Given the description of an element on the screen output the (x, y) to click on. 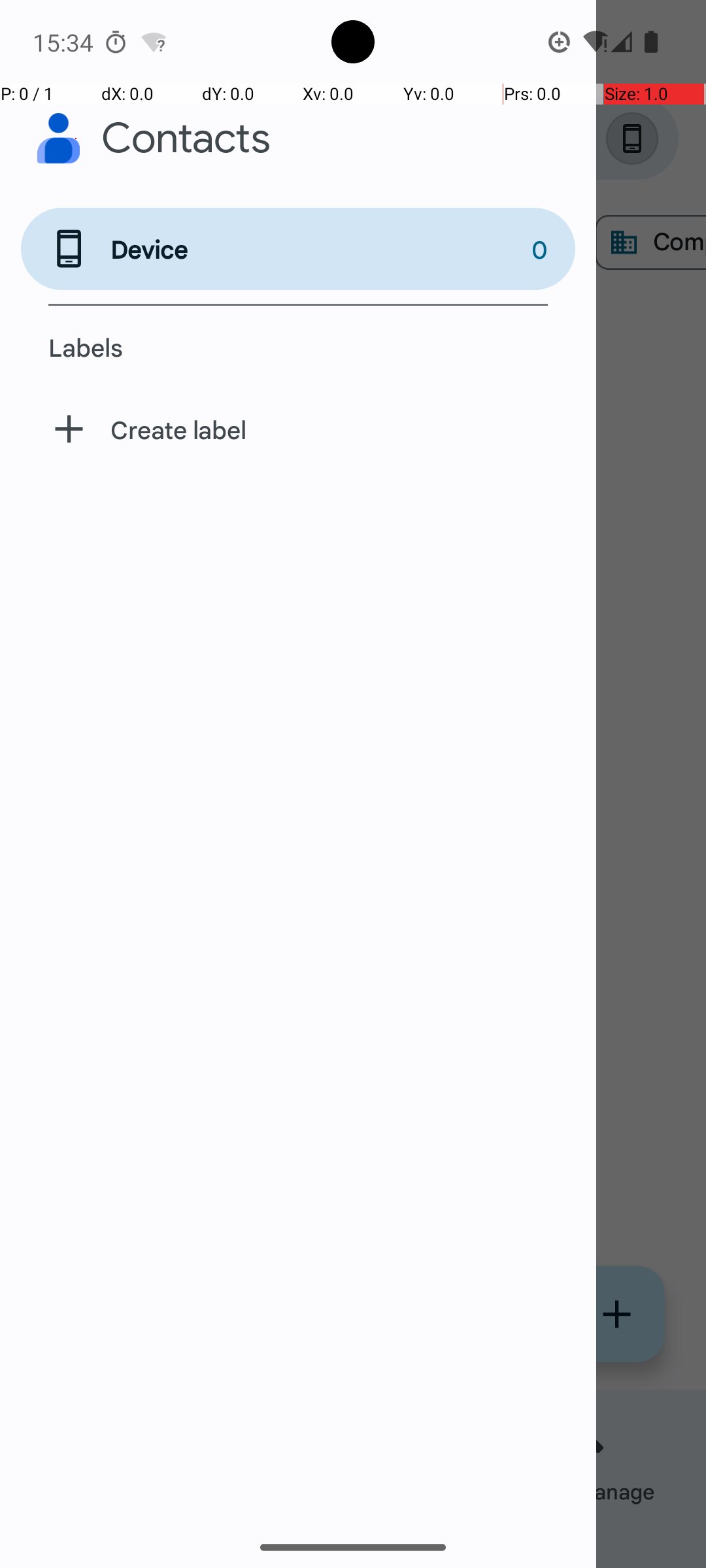
Labels Element type: android.widget.TextView (298, 346)
Create label Element type: android.widget.CheckedTextView (297, 429)
